Given the description of an element on the screen output the (x, y) to click on. 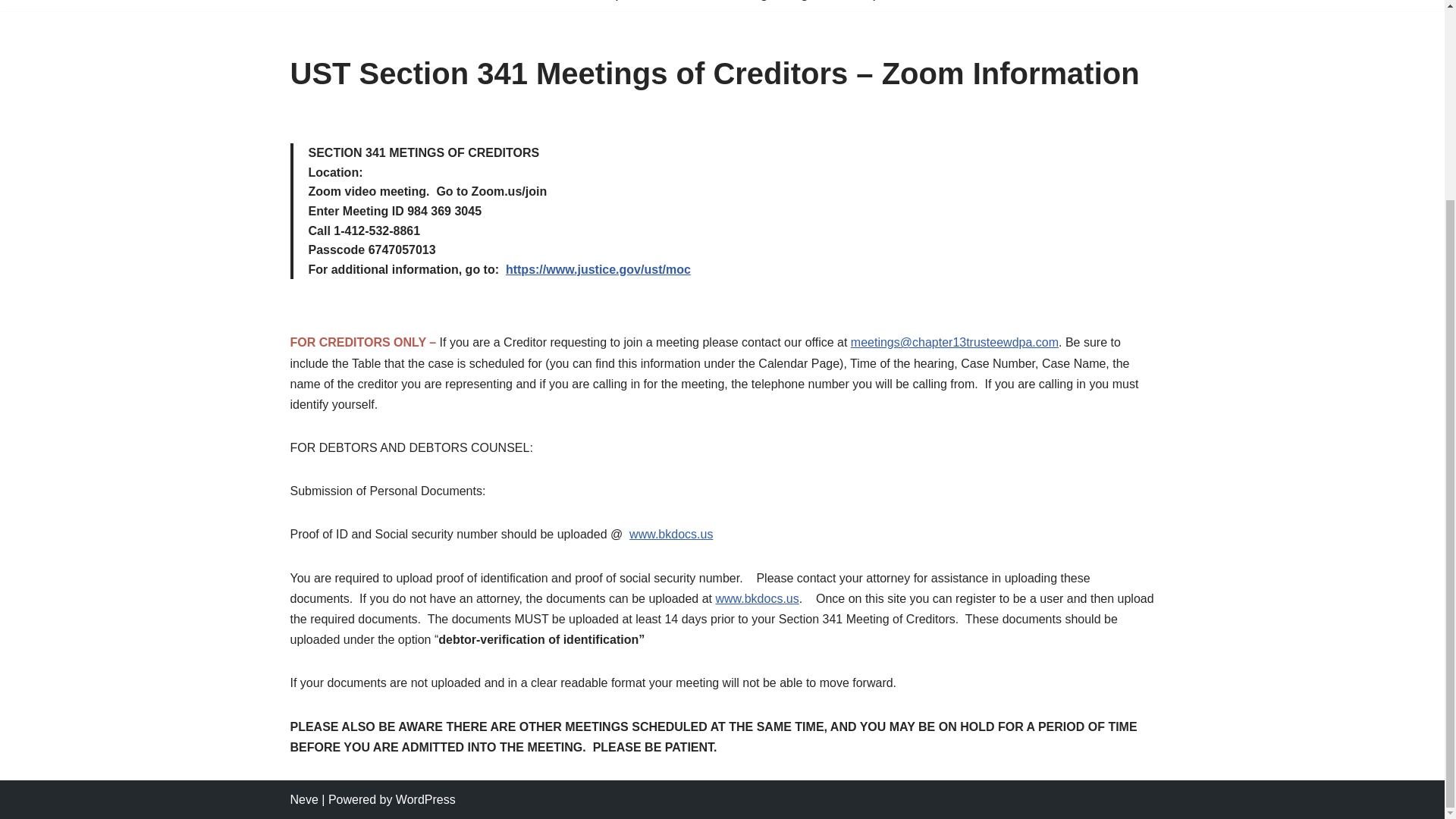
www.bkdocs.us (755, 598)
www.bkdocs.us (670, 533)
Important Information Regarding Your Chapter 13 Plan (774, 2)
WordPress (425, 799)
Neve (303, 799)
